Given the description of an element on the screen output the (x, y) to click on. 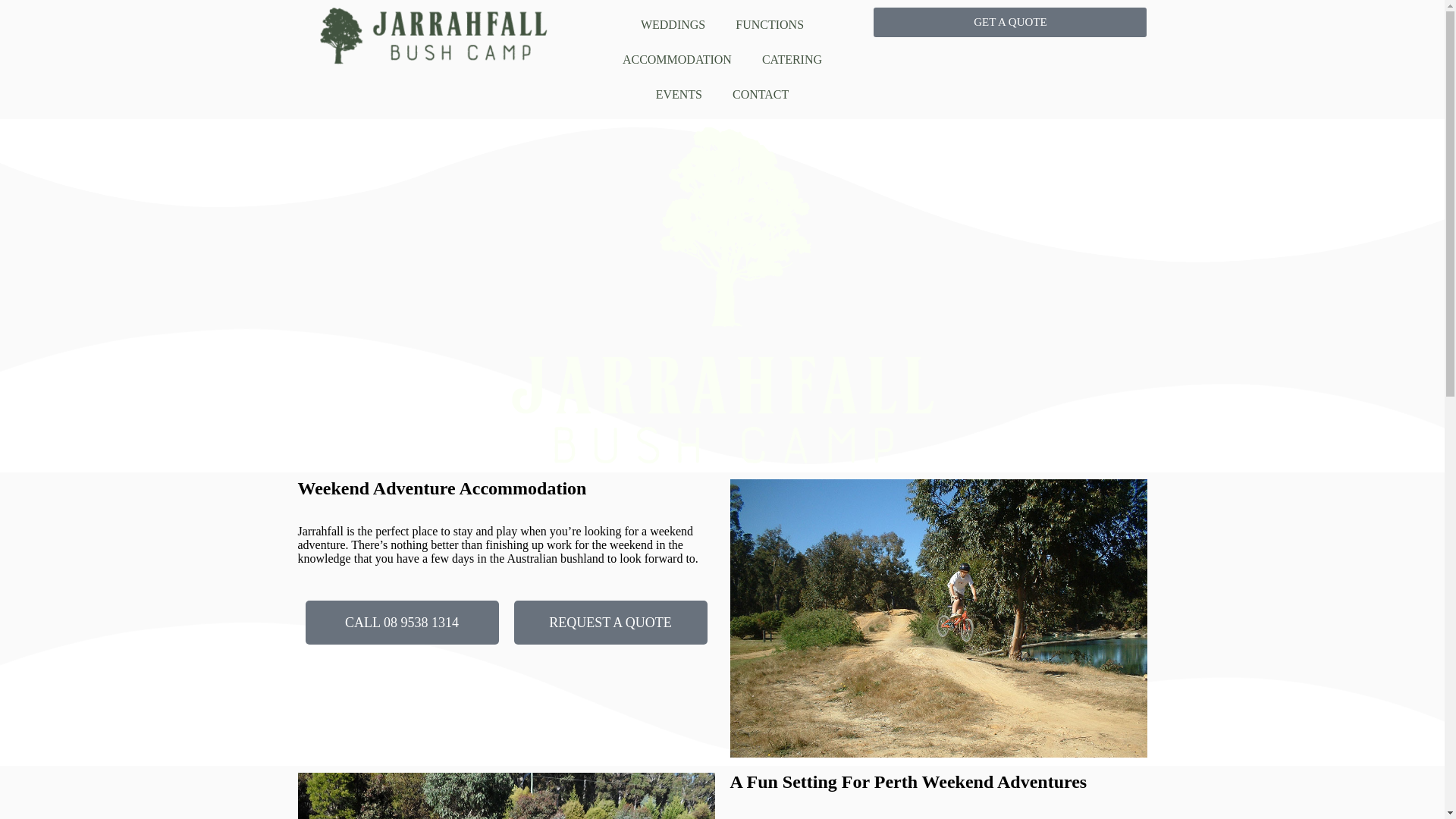
WEDDINGS Element type: text (672, 24)
EVENTS Element type: text (678, 94)
CALL 08 9538 1314 Element type: text (401, 622)
CATERING Element type: text (791, 59)
GET A QUOTE Element type: text (1009, 22)
REQUEST A QUOTE Element type: text (610, 622)
ACCOMMODATION Element type: text (676, 59)
FUNCTIONS Element type: text (769, 24)
CONTACT Element type: text (760, 94)
